Given the description of an element on the screen output the (x, y) to click on. 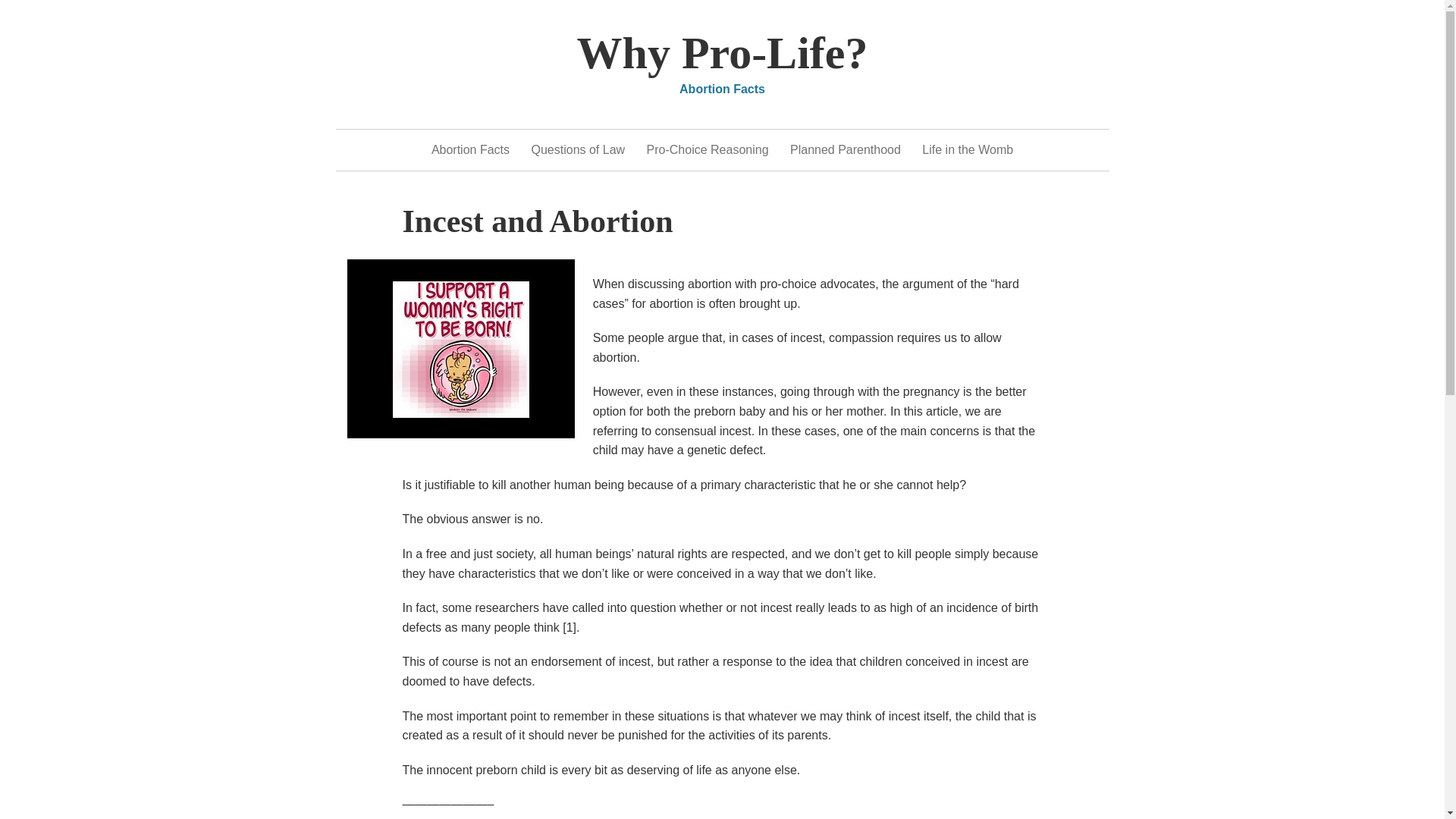
Life in the Womb (967, 149)
Questions of Law (577, 149)
Why Pro-Life? (721, 52)
Planned Parenthood (845, 149)
Pro-Choice Reasoning (707, 149)
Abortion Facts (469, 149)
WomanRightToBeBorn (461, 348)
